Given the description of an element on the screen output the (x, y) to click on. 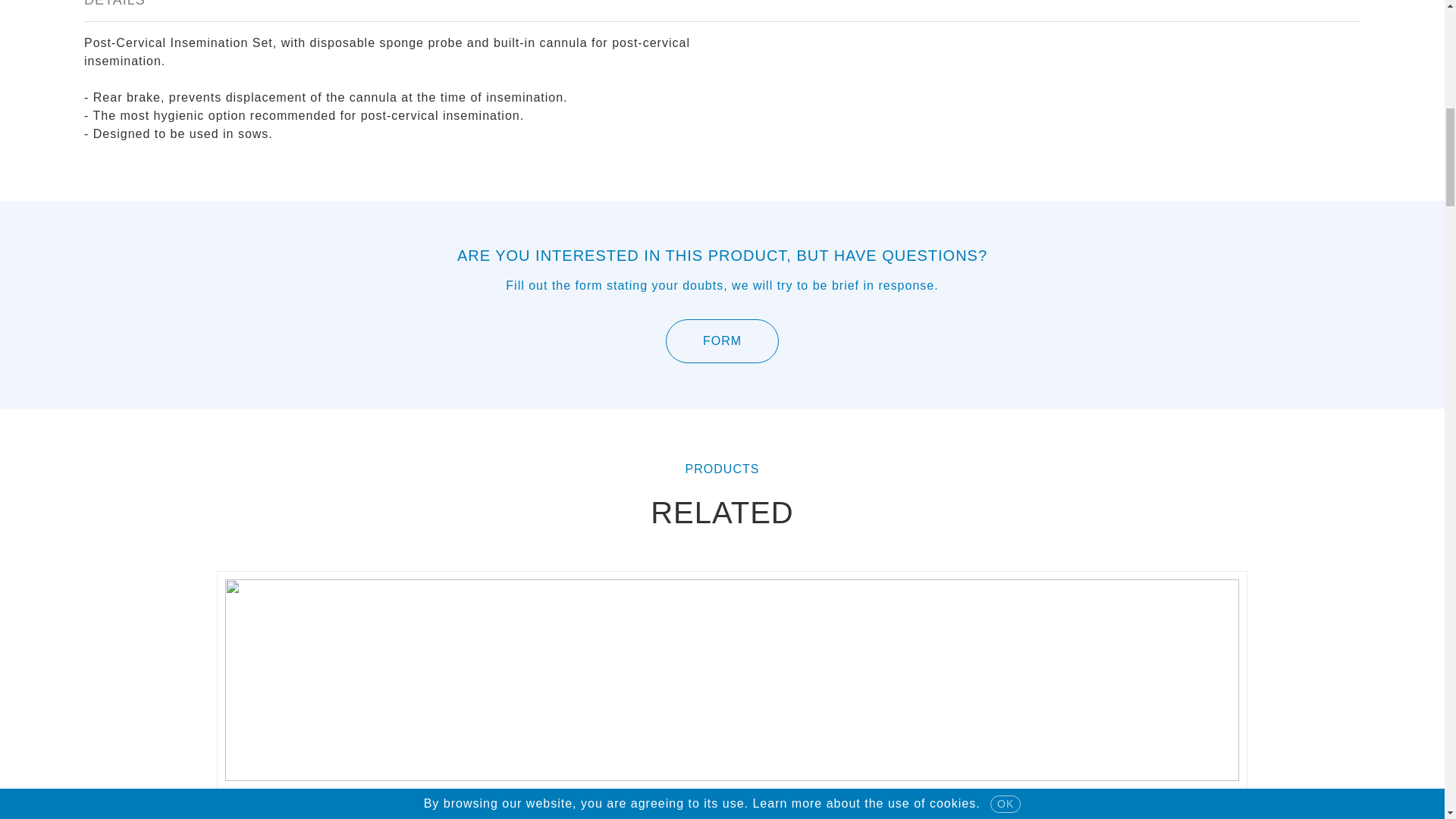
FORM (721, 341)
